Given the description of an element on the screen output the (x, y) to click on. 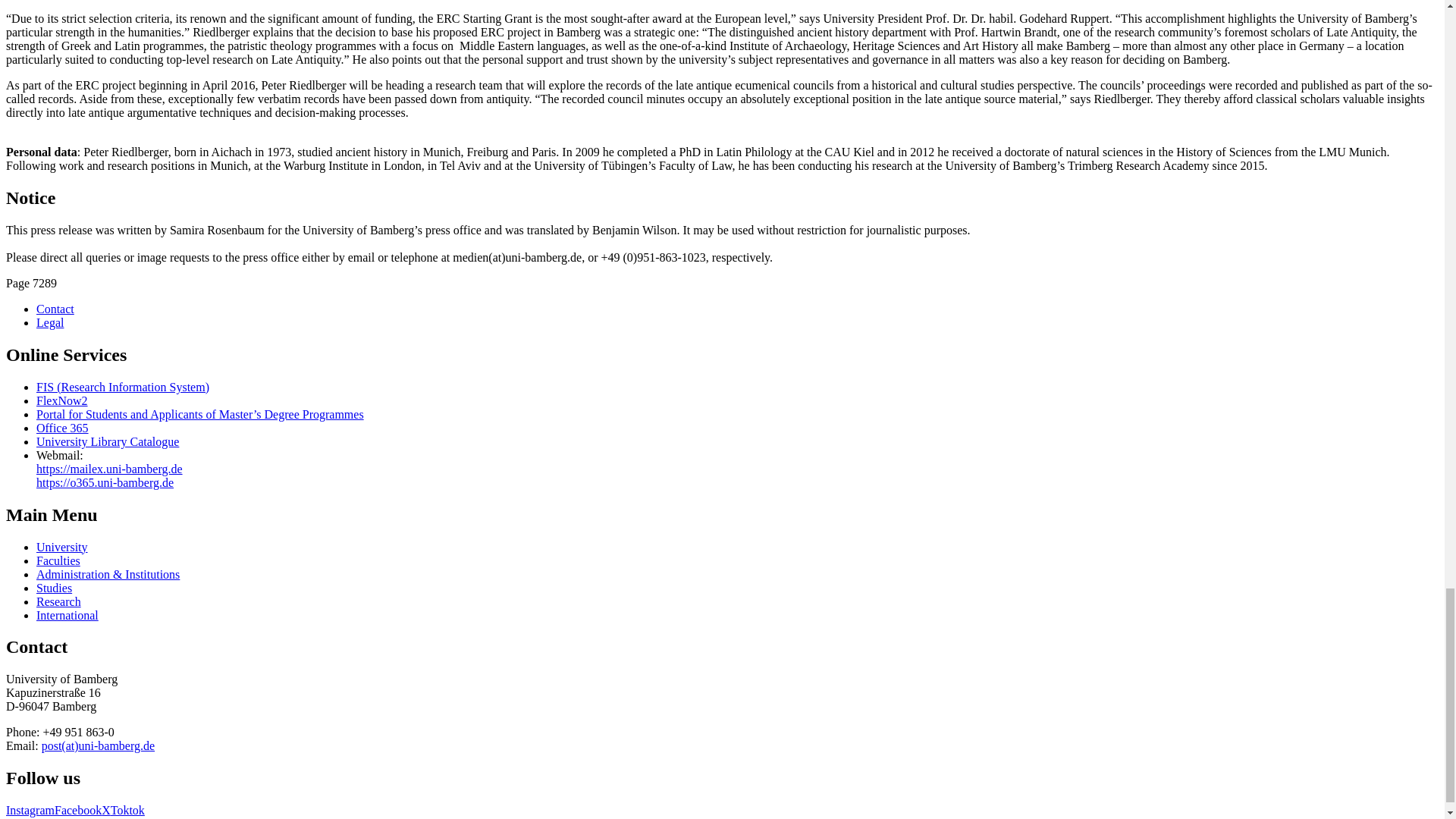
Tiktok (127, 809)
Facebook (78, 809)
Instagram (30, 809)
